Given the description of an element on the screen output the (x, y) to click on. 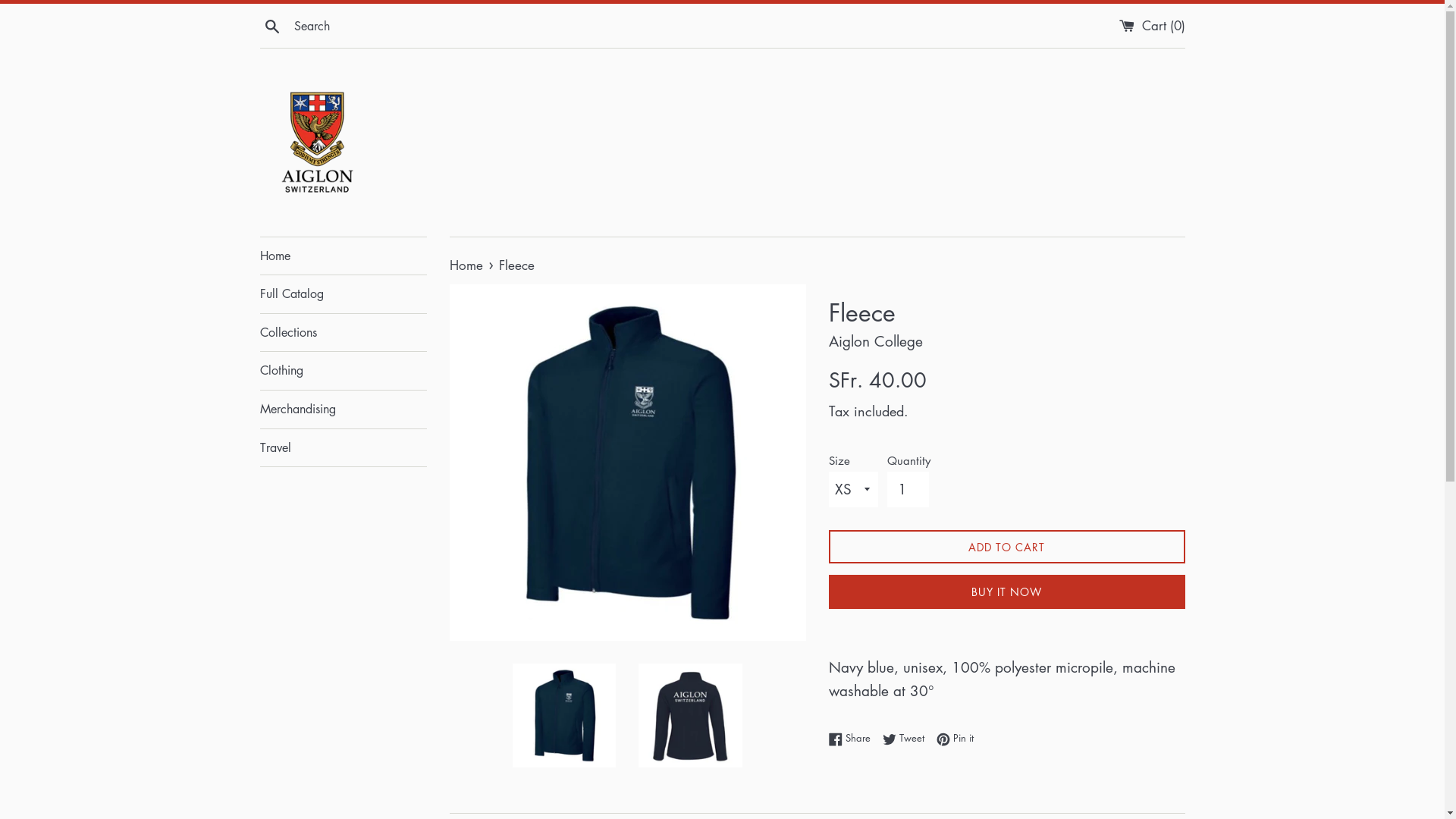
Clothing Element type: text (342, 370)
Cart (0) Element type: text (1152, 25)
Travel Element type: text (342, 448)
Tweet
Tweet on Twitter Element type: text (906, 737)
ADD TO CART Element type: text (1006, 547)
Merchandising Element type: text (342, 409)
Home Element type: text (342, 256)
Home Element type: text (467, 264)
Search Element type: text (271, 24)
Full Catalog Element type: text (342, 294)
BUY IT NOW Element type: text (1006, 591)
Share
Share on Facebook Element type: text (852, 737)
Collections Element type: text (342, 332)
Pin it
Pin on Pinterest Element type: text (953, 737)
